Given the description of an element on the screen output the (x, y) to click on. 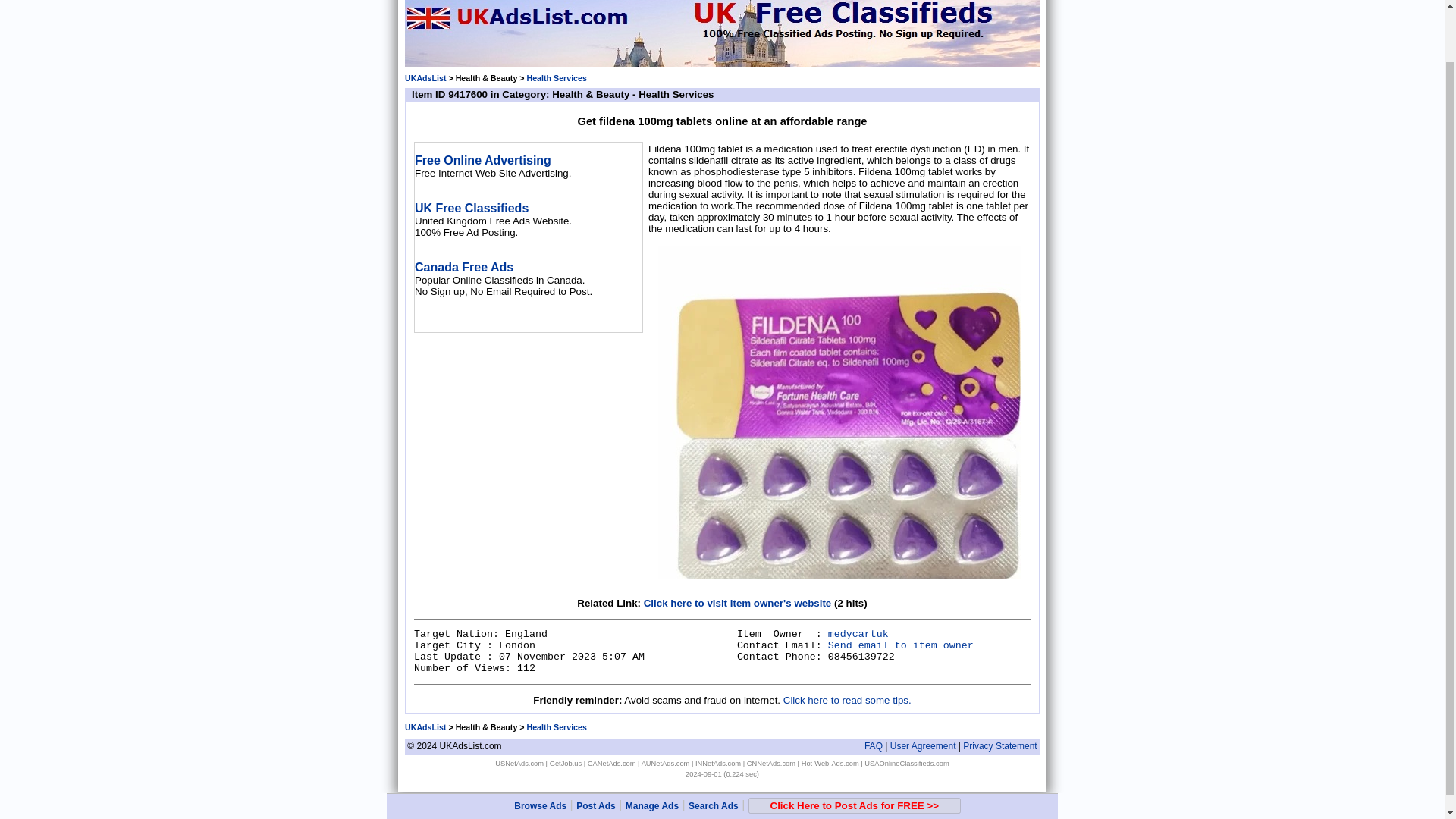
Post Ads (595, 747)
INNetAds.com (718, 763)
Send email to item owner (901, 645)
Free Online Advertising (482, 160)
UK Free Classifieds (471, 207)
Health Services (555, 727)
Click here to read some tips. (847, 699)
Hot-Web-Ads.com (830, 763)
USNetAds.com (519, 763)
Manage Ads (652, 747)
